Given the description of an element on the screen output the (x, y) to click on. 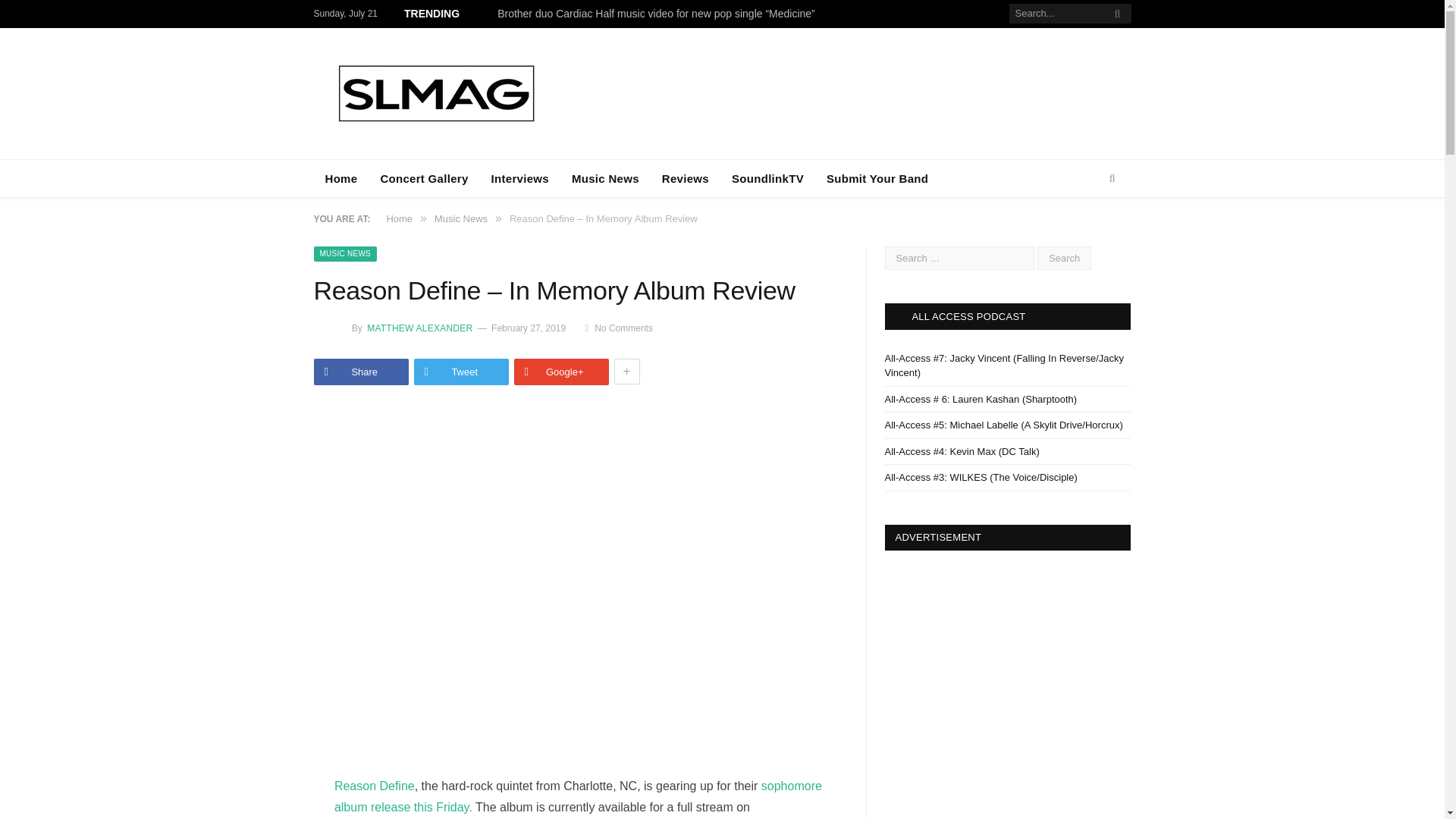
MUSIC NEWS (345, 253)
Search (1063, 258)
sophomore album release this Friday. (578, 796)
Share (361, 371)
Posts by Matthew Alexander (418, 327)
Reviews (685, 178)
No Comments (618, 327)
Home (341, 178)
Interviews (520, 178)
Concert Gallery (423, 178)
MATTHEW ALEXANDER (418, 327)
Tweet (460, 371)
Submit Your Band (877, 178)
Search (1063, 258)
Home (398, 218)
